Given the description of an element on the screen output the (x, y) to click on. 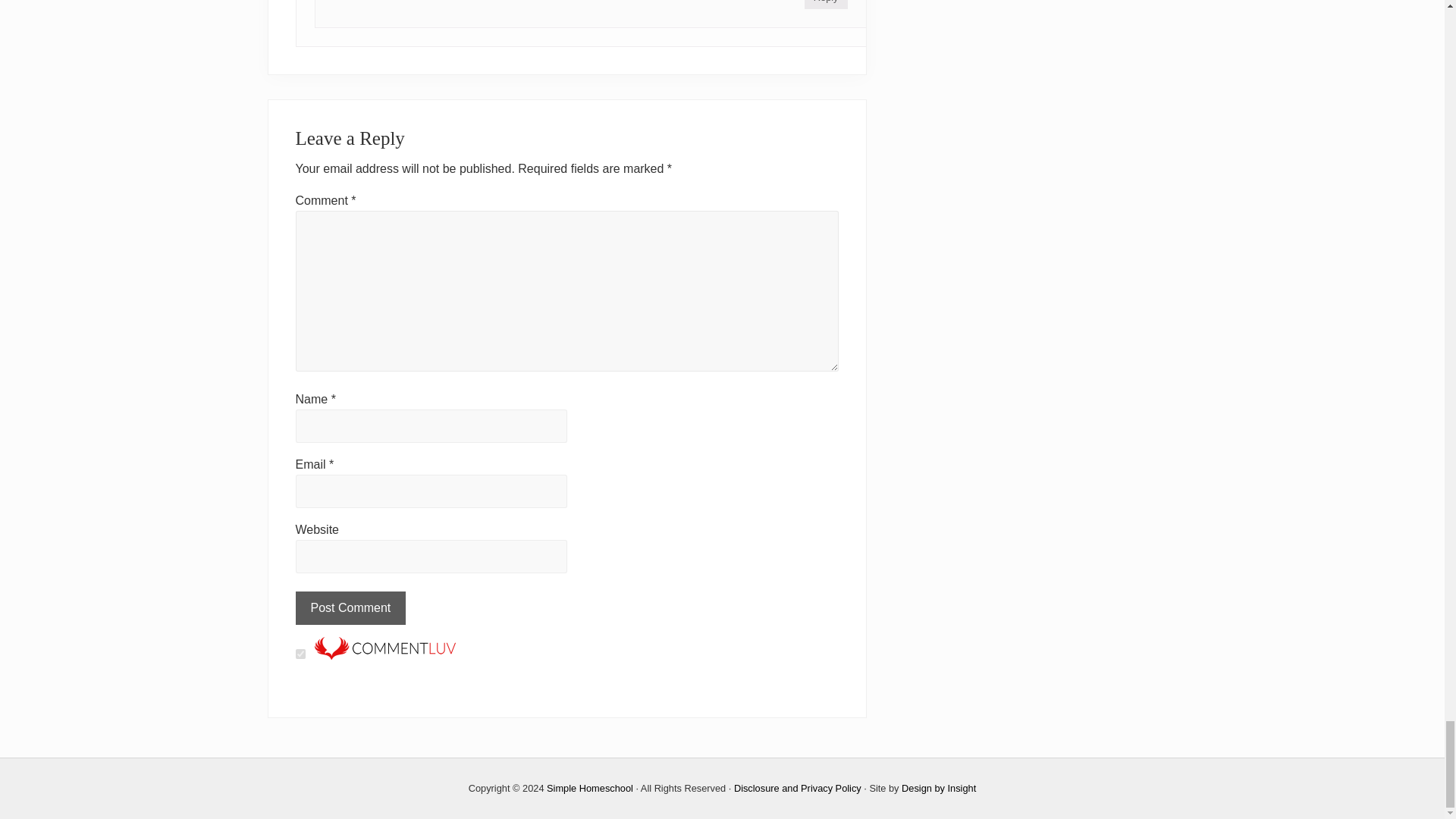
Post Comment (350, 607)
on (300, 654)
Simple Homeschool (590, 787)
